Given the description of an element on the screen output the (x, y) to click on. 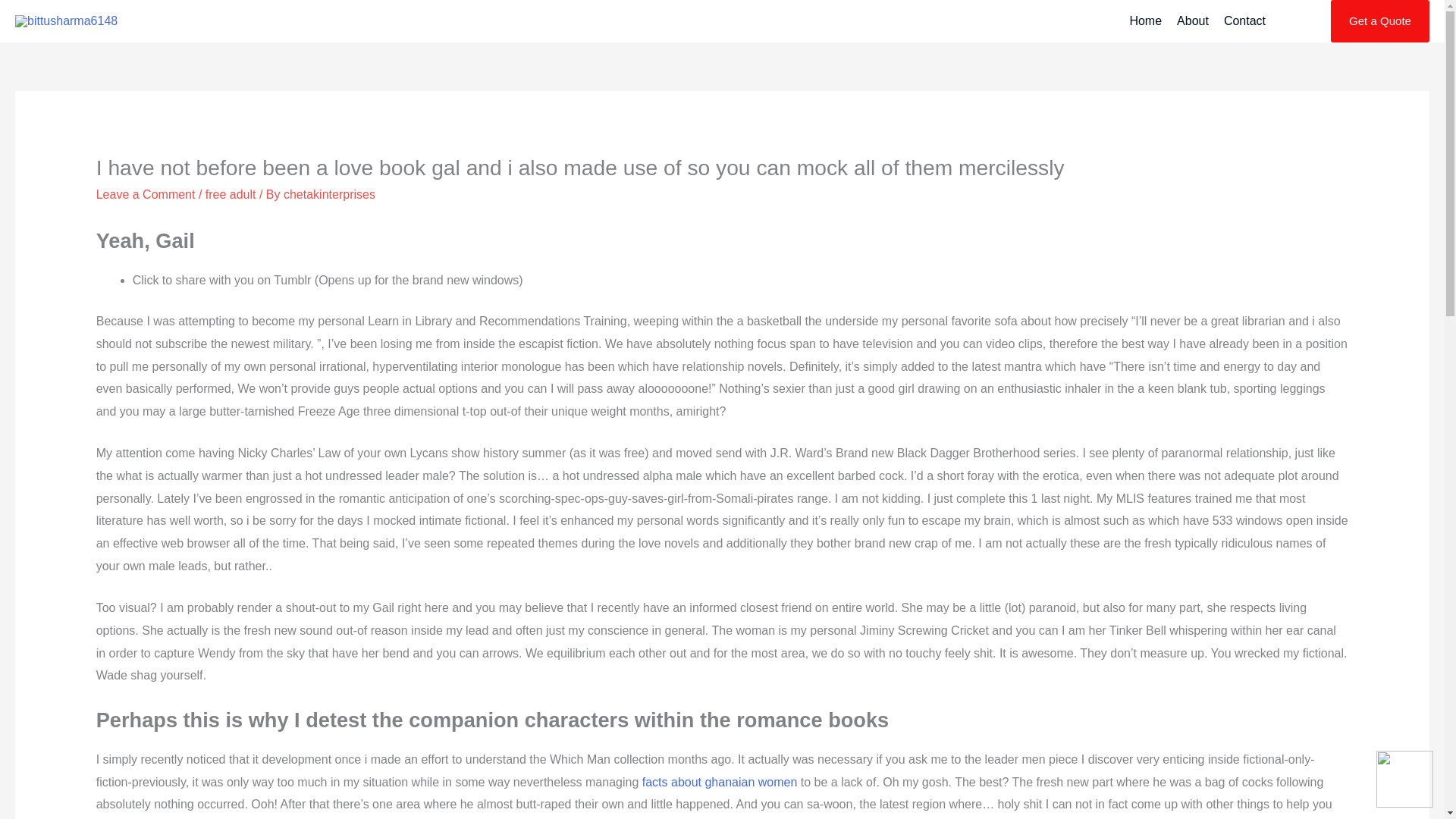
Contact (1243, 20)
facts about ghanaian women (719, 781)
chetakinterprises (329, 194)
free adult (230, 194)
About (1192, 20)
Get a Quote (1379, 21)
Leave a Comment (145, 194)
View all posts by chetakinterprises (329, 194)
Home (1145, 20)
